Given the description of an element on the screen output the (x, y) to click on. 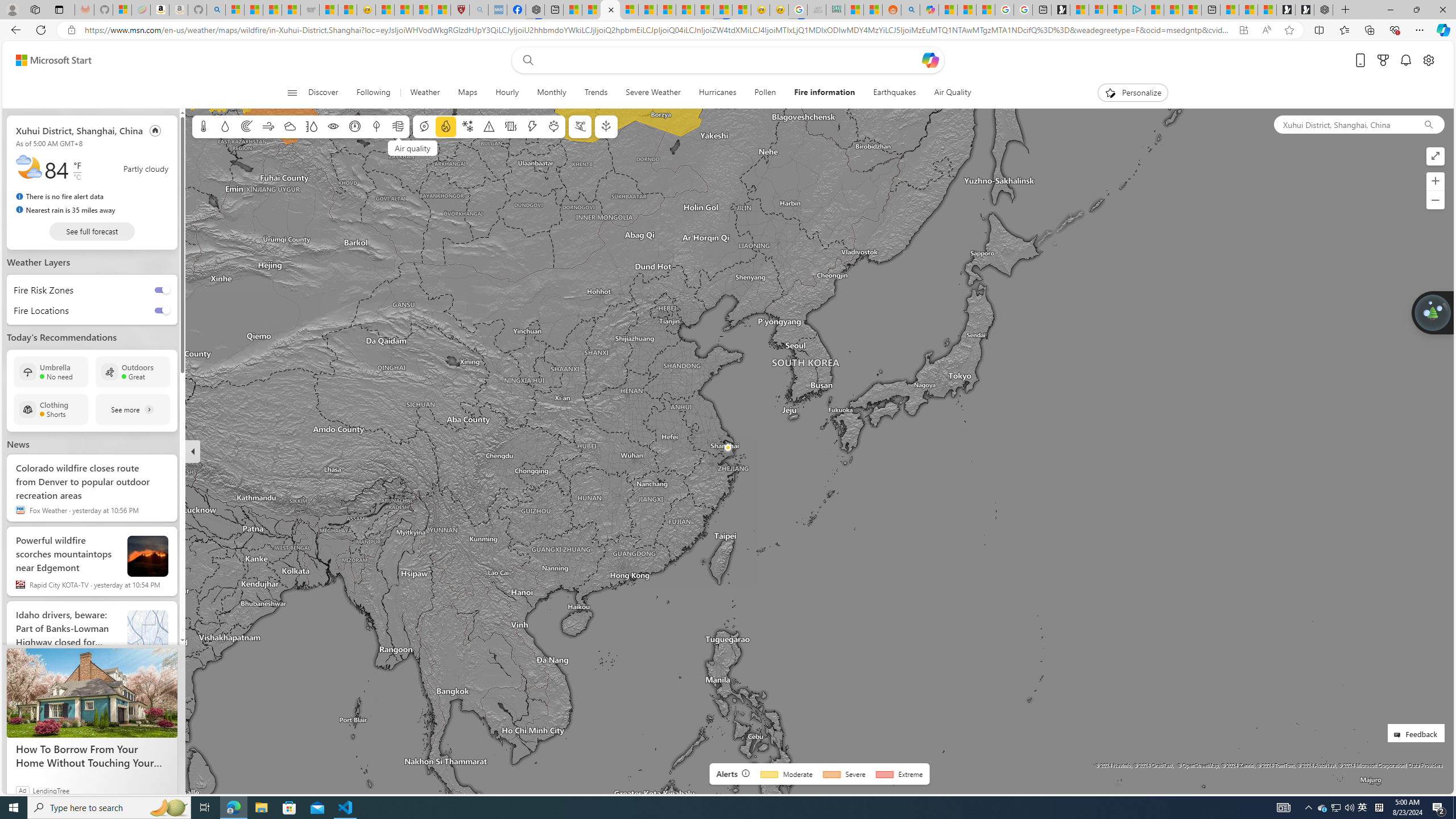
These 3 Stocks Pay You More Than 5% to Own Them (1192, 9)
Maps (467, 92)
Powerful wildfire scorches mountaintops near Edgemont (67, 551)
